Given the description of an element on the screen output the (x, y) to click on. 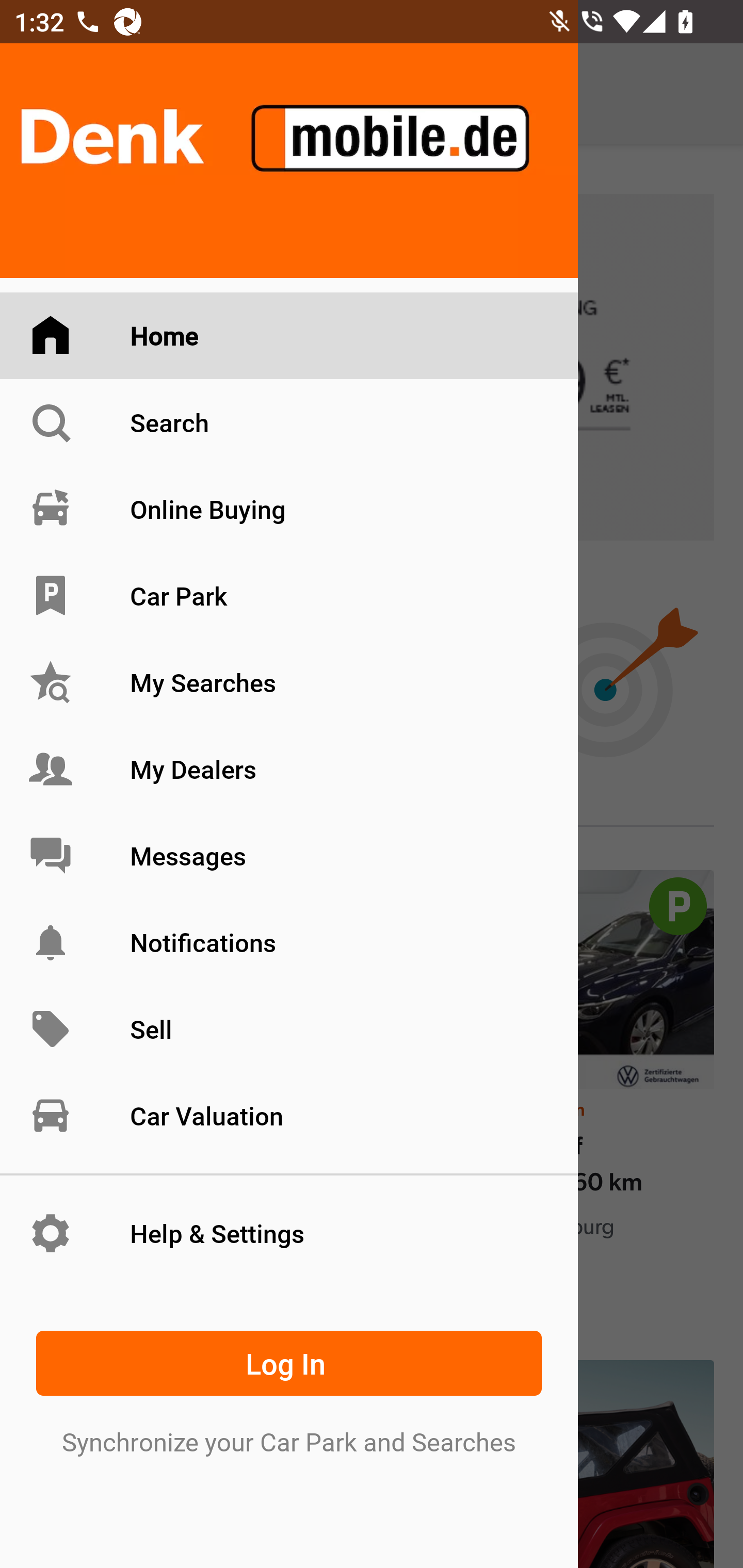
Home (289, 336)
Search (289, 422)
Online Buying (289, 508)
Car Park (289, 595)
My Searches (289, 682)
My Dealers (289, 768)
Messages (289, 855)
Notifications (289, 942)
Sell (289, 1029)
Car Valuation (289, 1115)
Help & Settings (289, 1233)
Log In Synchronize your Car Park and Searches (289, 1388)
Log In (288, 1363)
